Given the description of an element on the screen output the (x, y) to click on. 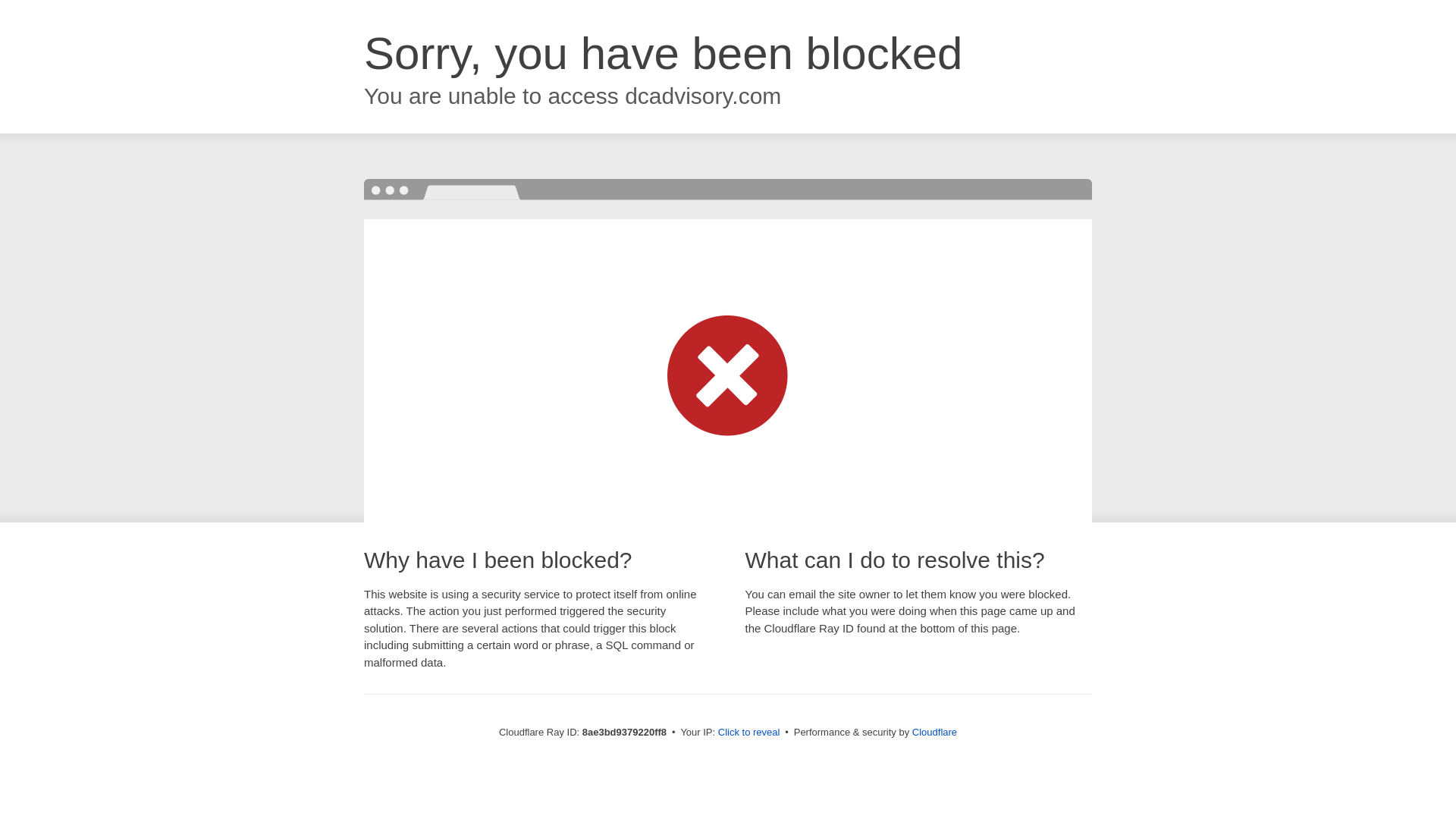
Click to reveal (748, 732)
Cloudflare (934, 731)
